Given the description of an element on the screen output the (x, y) to click on. 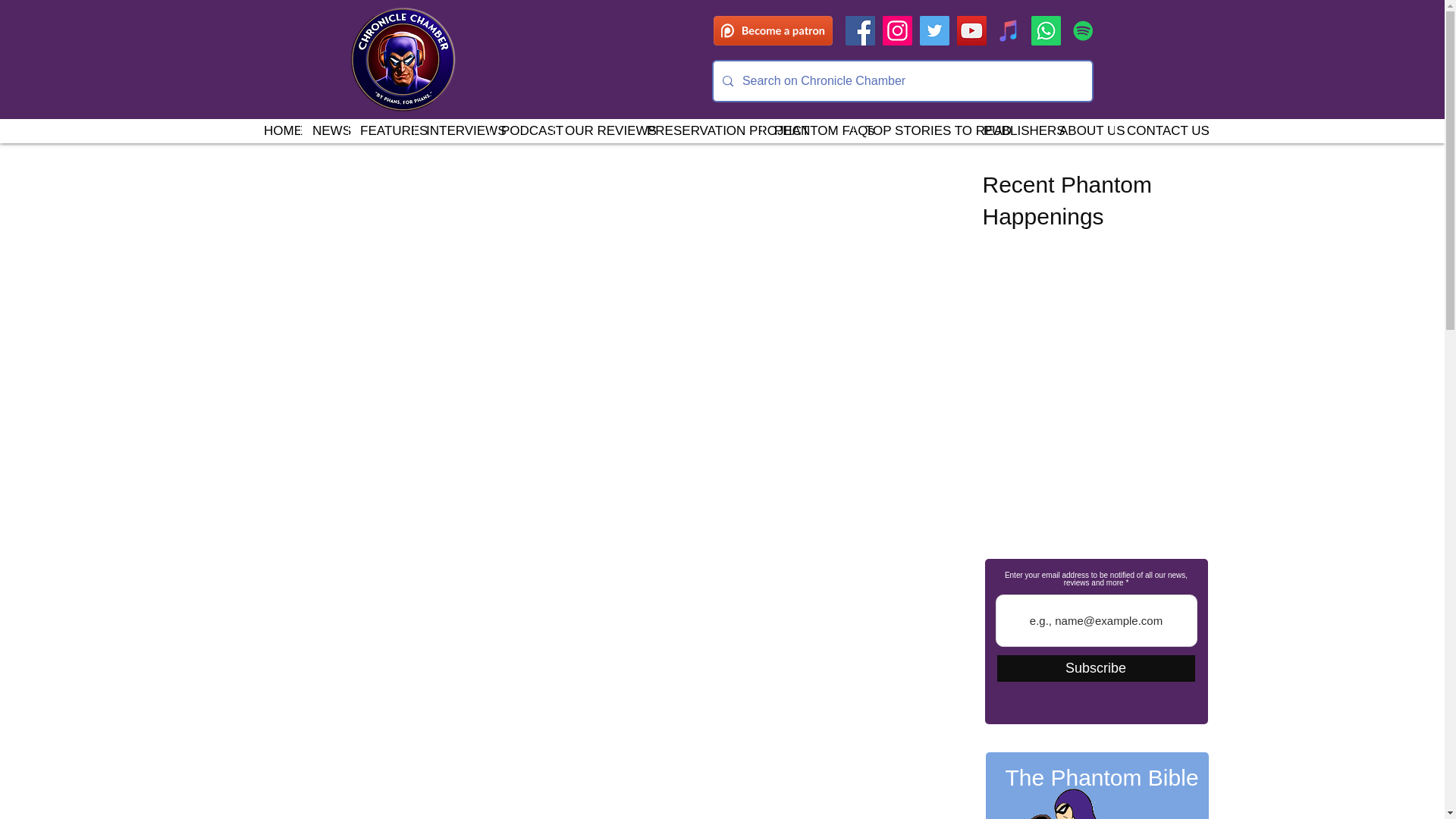
INTERVIEWS (451, 130)
HOME (275, 130)
Chronical-Chamber-Logo-transparent.png (401, 59)
NEWS (323, 130)
